Given the description of an element on the screen output the (x, y) to click on. 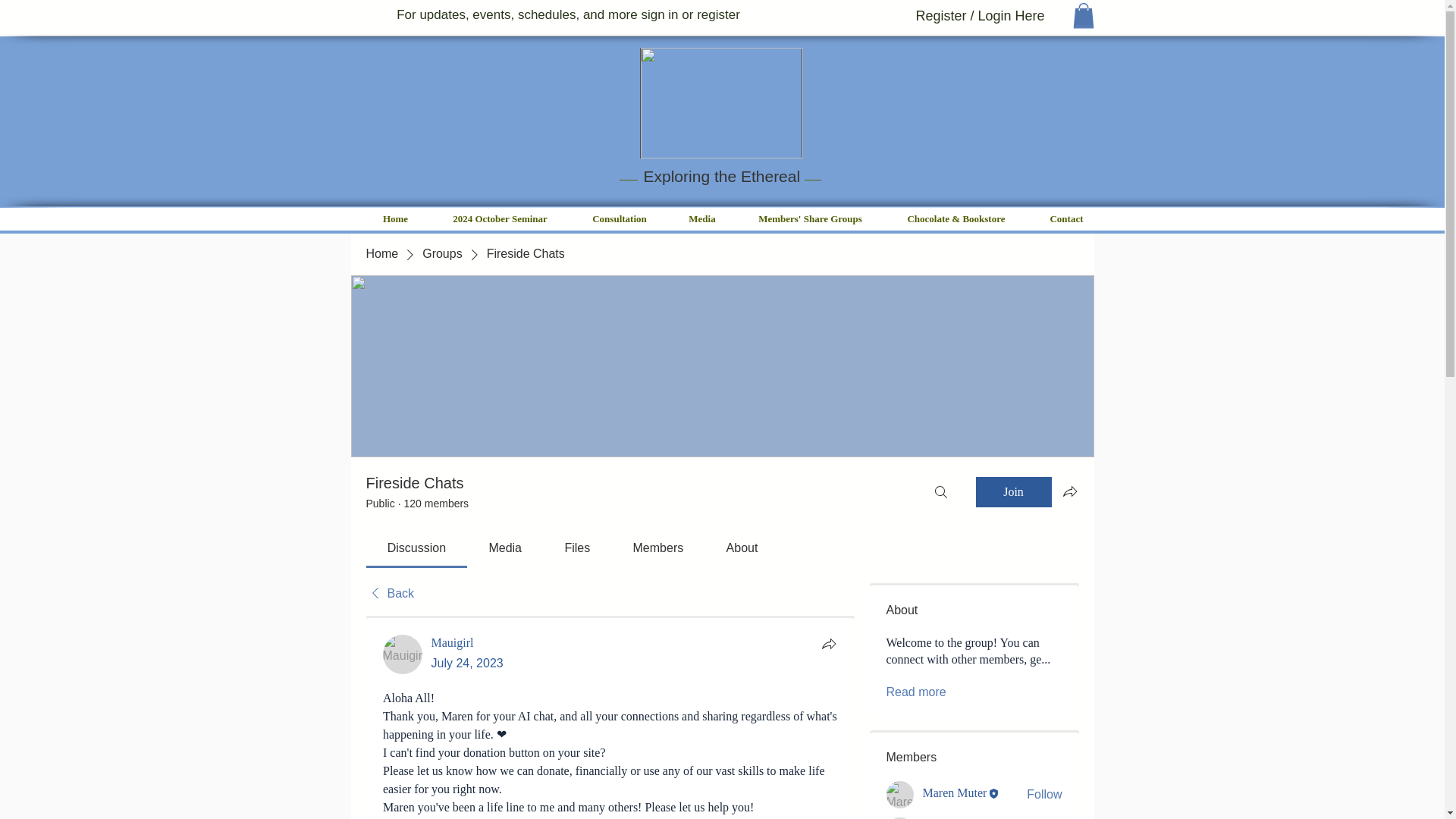
Consultation (620, 218)
Mauigirl (451, 642)
Dani Adler (898, 818)
Contact (1065, 218)
Mauigirl (401, 654)
Members' Share Groups (809, 218)
Read more (914, 692)
Groups (441, 253)
Maren Muter (954, 792)
Media (701, 218)
